Given the description of an element on the screen output the (x, y) to click on. 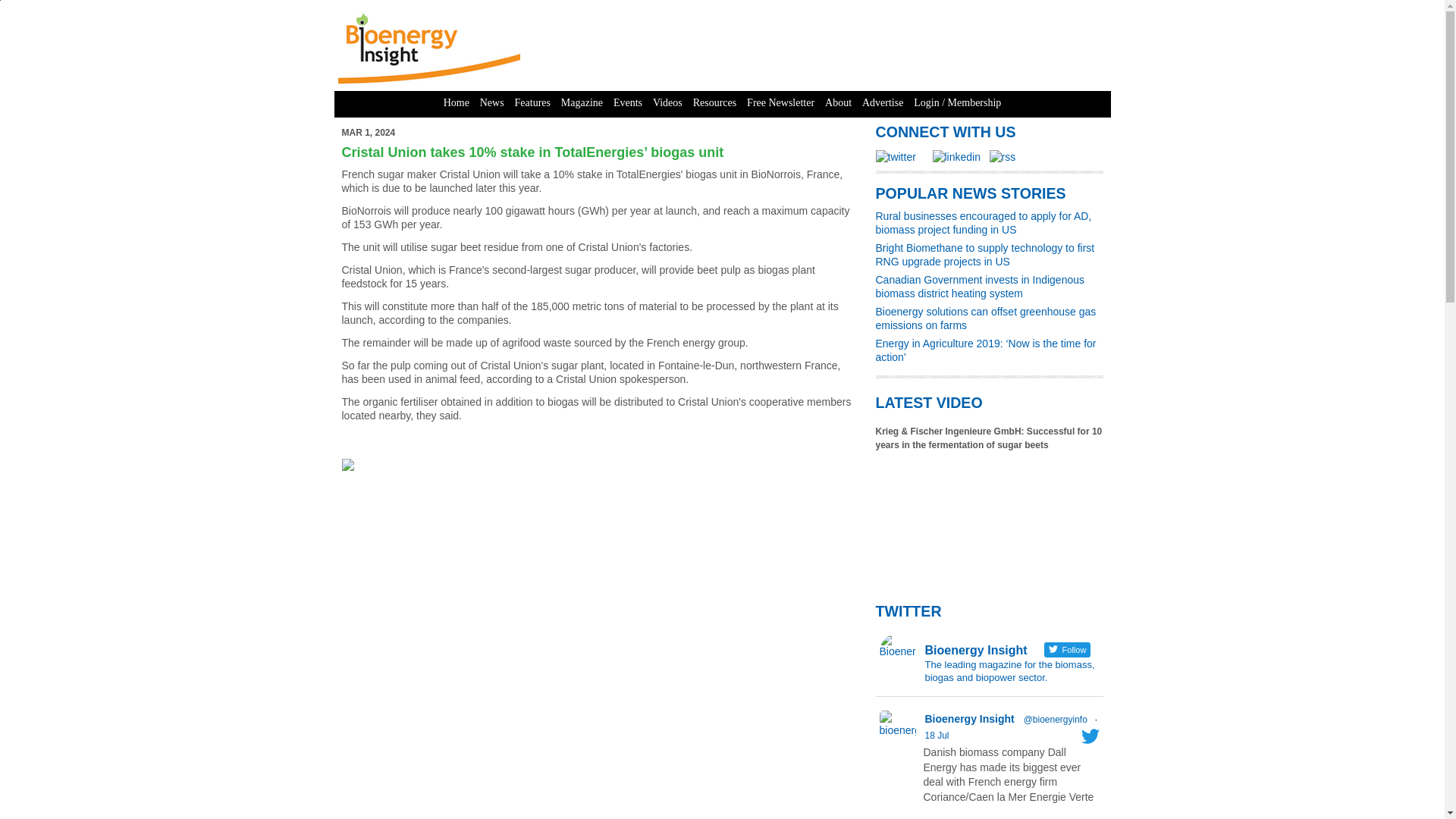
Resources (714, 102)
Magazine (582, 102)
Advertise (883, 102)
Features (532, 102)
Videos (667, 102)
Free Newsletter (780, 102)
